Given the description of an element on the screen output the (x, y) to click on. 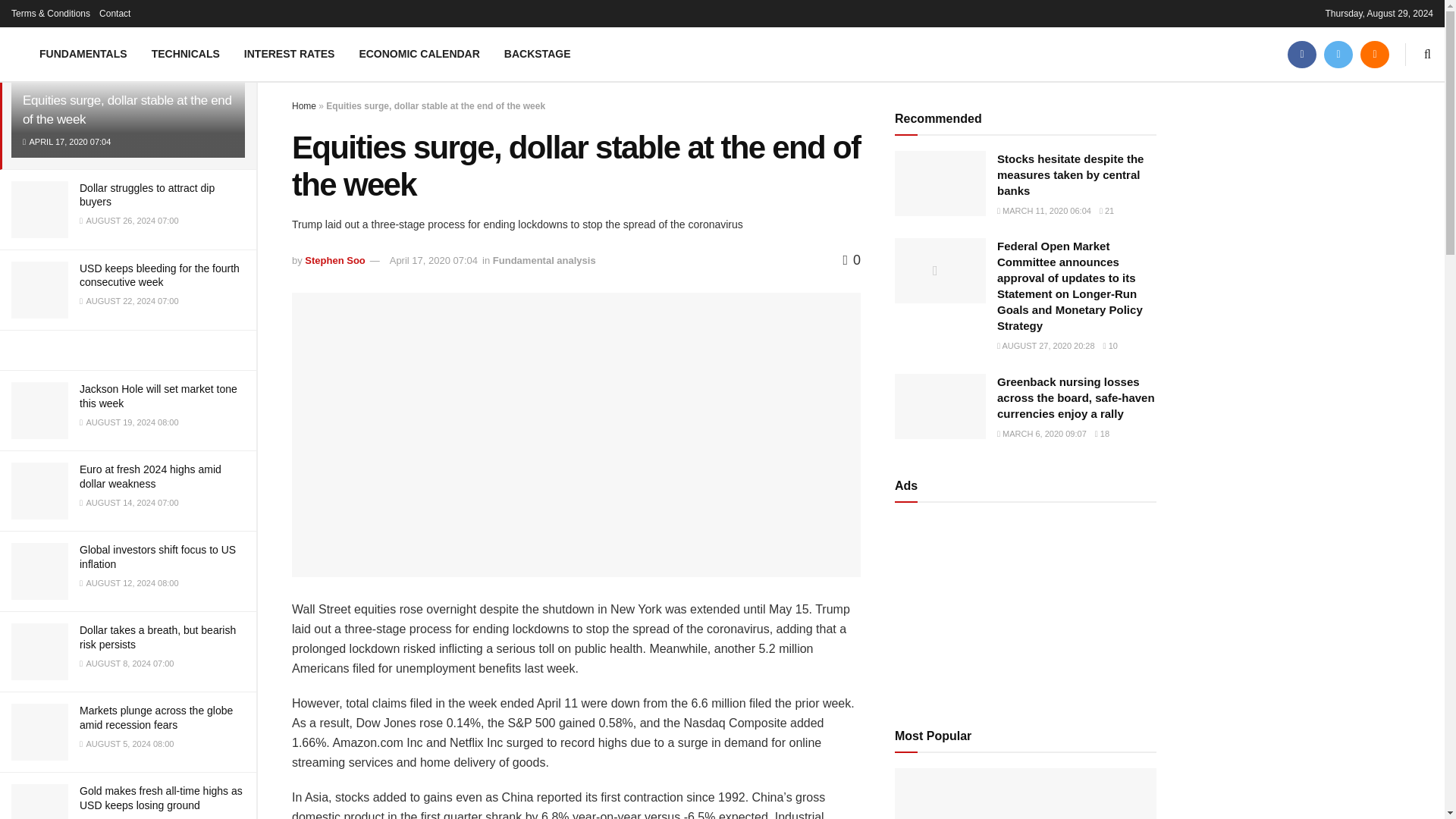
Contact (115, 13)
Dollar struggles to attract dip buyers (147, 194)
Markets plunge across the globe amid recession fears (156, 717)
USD keeps bleeding for the fourth consecutive week (160, 275)
Euro at fresh 2024 highs amid dollar weakness (150, 475)
Jackson Hole will set market tone this week (158, 395)
FUNDAMENTALS (83, 54)
Equities surge, dollar stable at the end of the week (127, 110)
Dollar takes a breath, but bearish risk persists (157, 637)
Filter (227, 13)
